Given the description of an element on the screen output the (x, y) to click on. 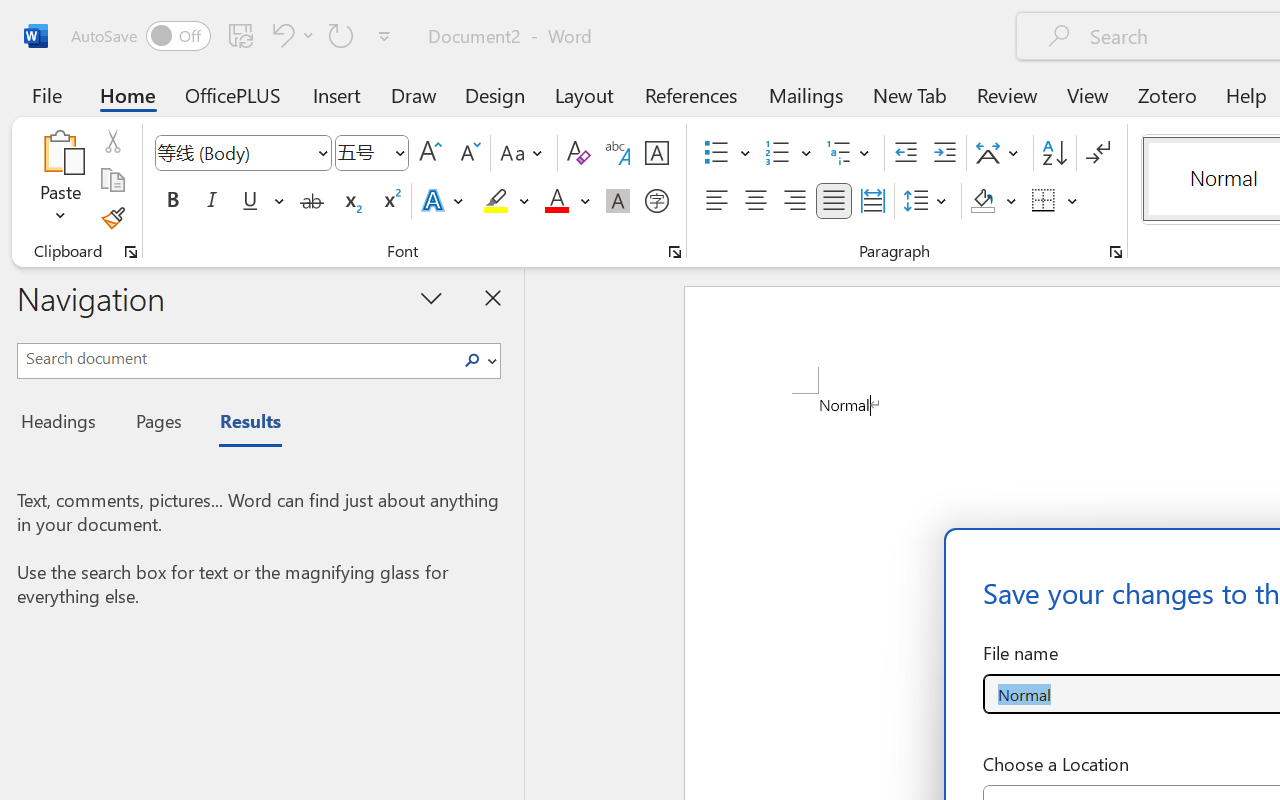
Shading RGB(0, 0, 0) (982, 201)
View (1087, 94)
Shading (993, 201)
Character Shading (618, 201)
Search (478, 360)
Layout (584, 94)
Asian Layout (1000, 153)
Show/Hide Editing Marks (1098, 153)
Numbering (778, 153)
